Given the description of an element on the screen output the (x, y) to click on. 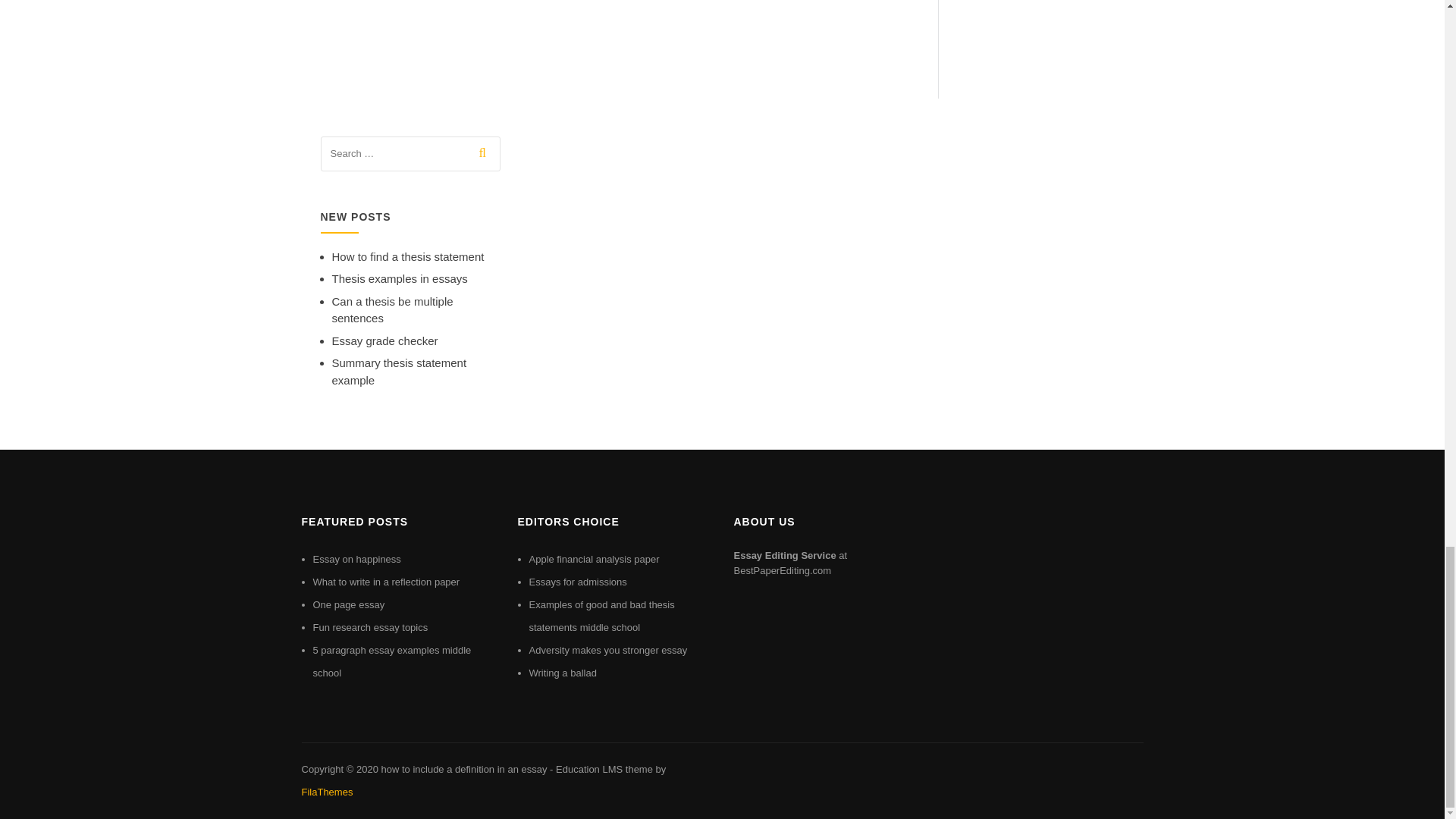
Essays for admissions (578, 582)
Examples of good and bad thesis statements middle school (602, 615)
One page essay (348, 604)
Writing a ballad (562, 672)
how to include a definition in an essay (463, 768)
What to write in a reflection paper (386, 582)
Apple financial analysis paper (594, 559)
How to find a thesis statement (407, 256)
how to include a definition in an essay (463, 768)
Thesis examples in essays (399, 278)
